Given the description of an element on the screen output the (x, y) to click on. 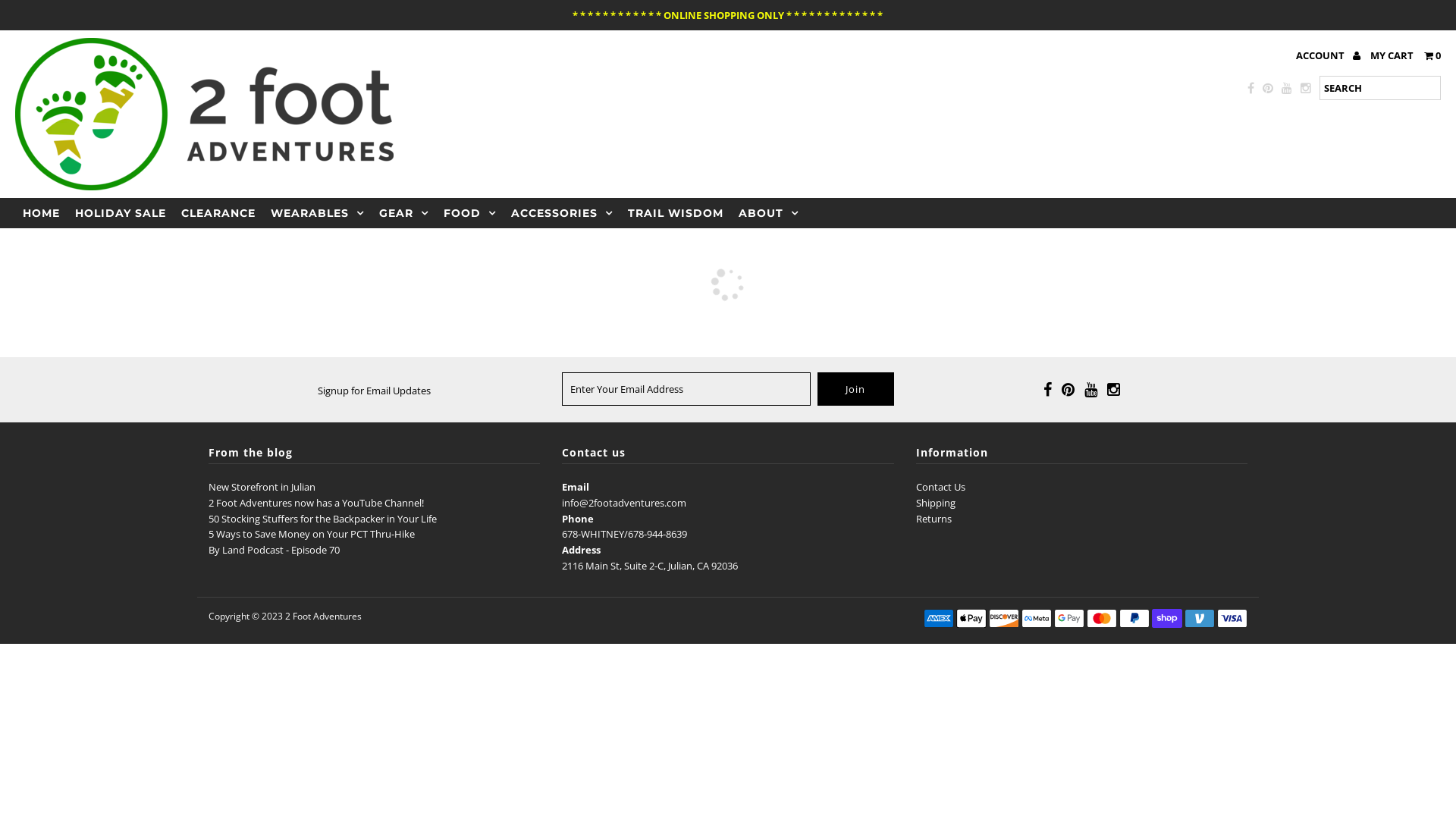
2 Foot Adventures Element type: text (323, 615)
TRAIL WISDOM Element type: text (675, 212)
By Land Podcast - Episode 70 Element type: text (273, 549)
ABOUT Element type: text (768, 212)
5 Ways to Save Money on Your PCT Thru-Hike Element type: text (311, 533)
FOOD Element type: text (469, 212)
Returns Element type: text (933, 518)
ACCOUNT Element type: text (1327, 55)
CLEARANCE Element type: text (218, 212)
50 Stocking Stuffers for the Backpacker in Your Life Element type: text (322, 518)
HOLIDAY SALE Element type: text (120, 212)
WEARABLES Element type: text (317, 212)
2 Foot Adventures now has a YouTube Channel! Element type: text (315, 502)
GEAR Element type: text (403, 212)
Shipping Element type: text (935, 502)
HOME Element type: text (41, 212)
MY CART   0 Element type: text (1405, 55)
Join Element type: text (855, 388)
ACCESSORIES Element type: text (561, 212)
Contact Us Element type: text (940, 486)
New Storefront in Julian Element type: text (261, 486)
